Given the description of an element on the screen output the (x, y) to click on. 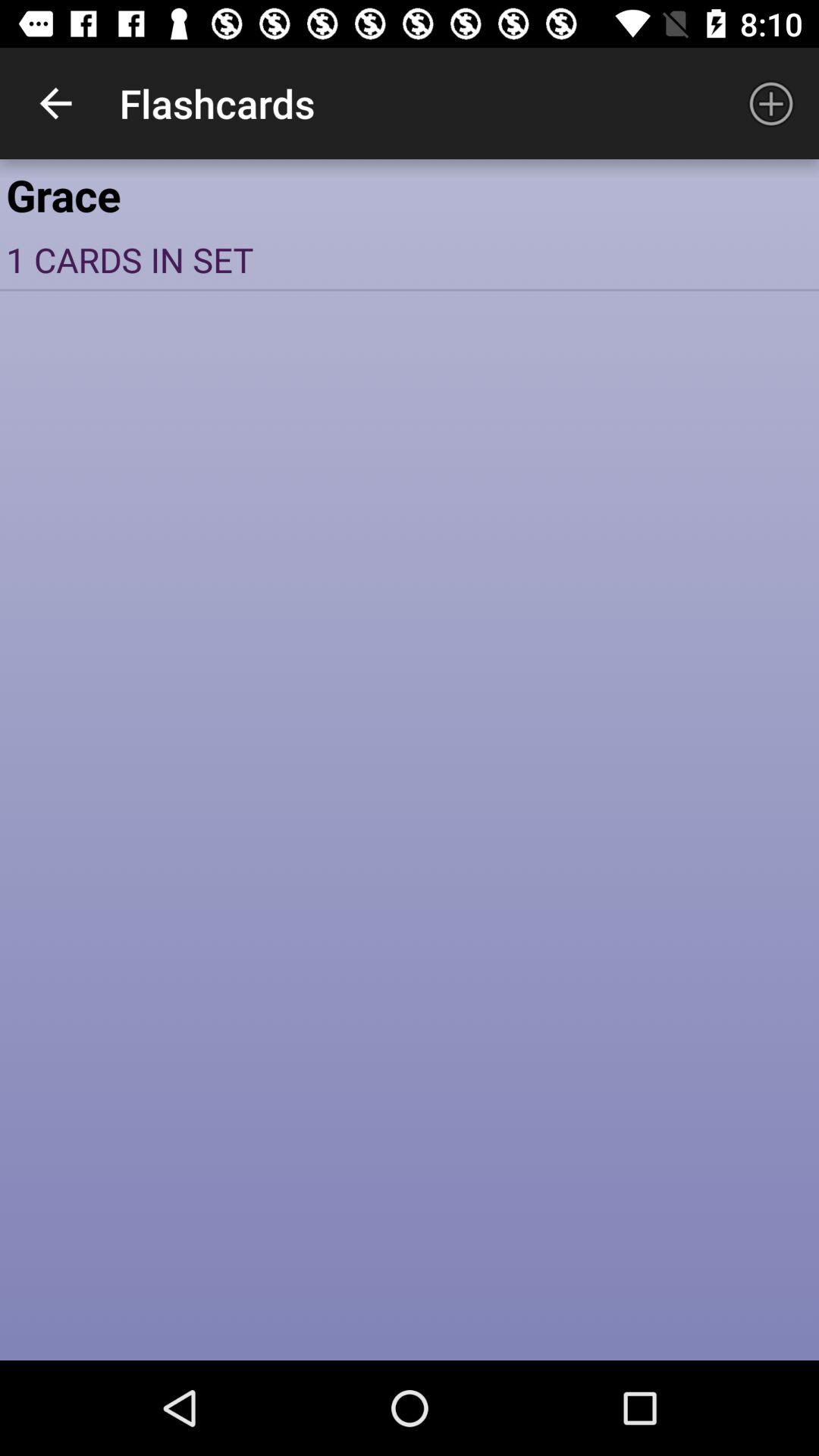
click the item to the left of flashcards app (55, 103)
